Given the description of an element on the screen output the (x, y) to click on. 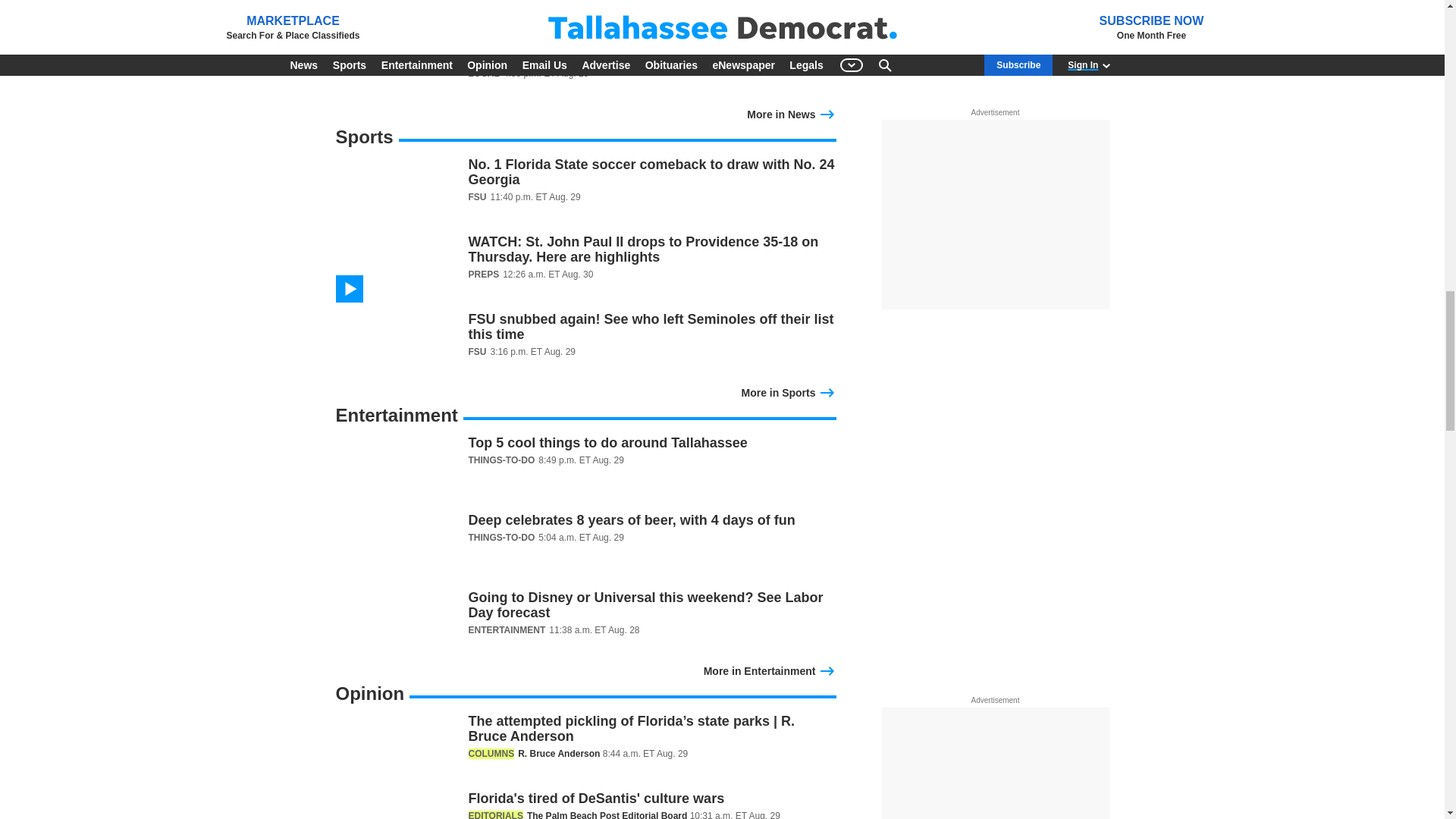
More in News (790, 112)
'Threatening messages' cause TMH to shut several entrances  (584, 67)
Deep celebrates 8 years of beer, with 4 days of fun  (584, 546)
More in Sports (788, 391)
Top 5 cool things to do around Tallahassee  (584, 468)
